Given the description of an element on the screen output the (x, y) to click on. 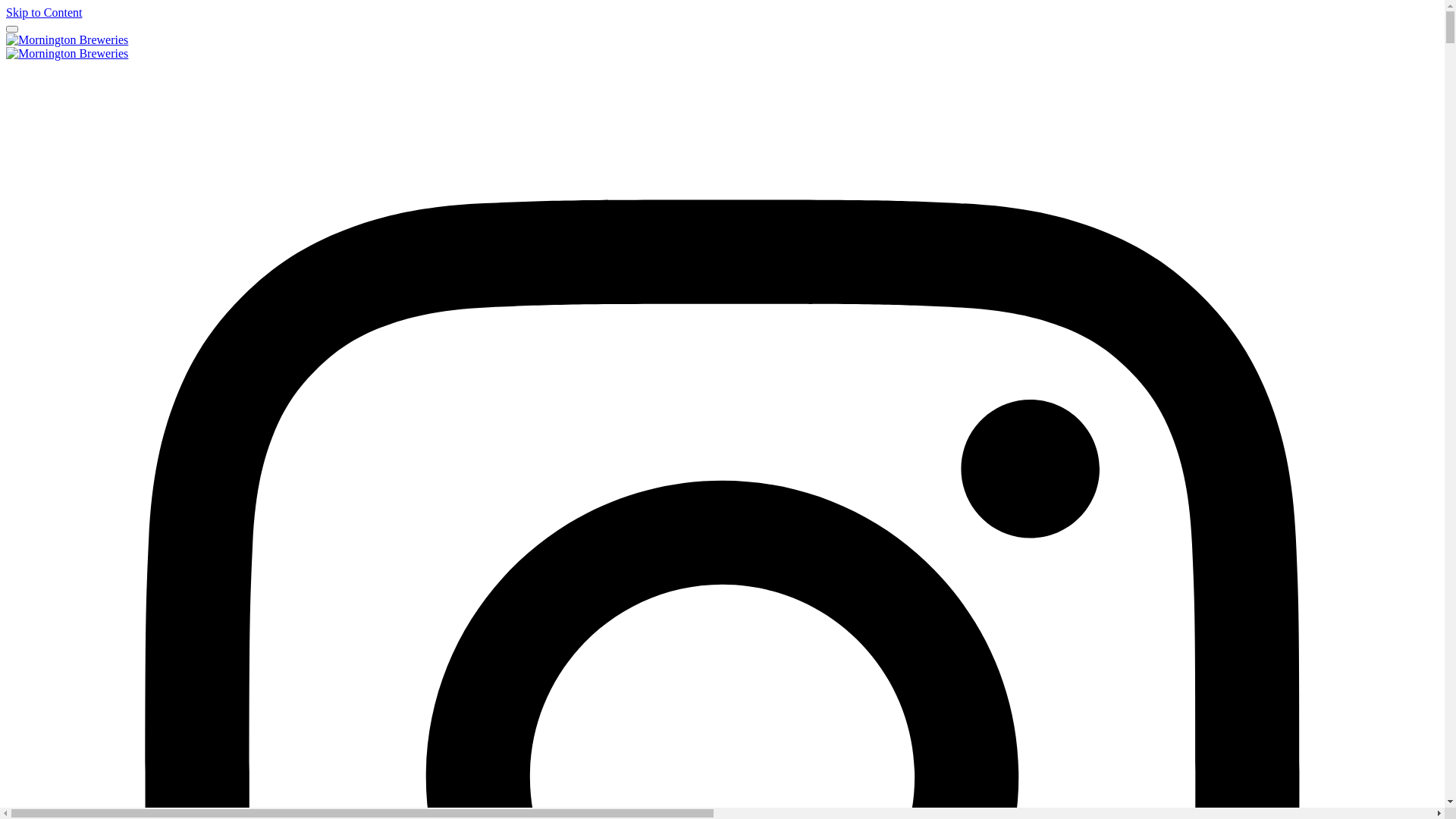
Skip to Content Element type: text (43, 12)
